Given the description of an element on the screen output the (x, y) to click on. 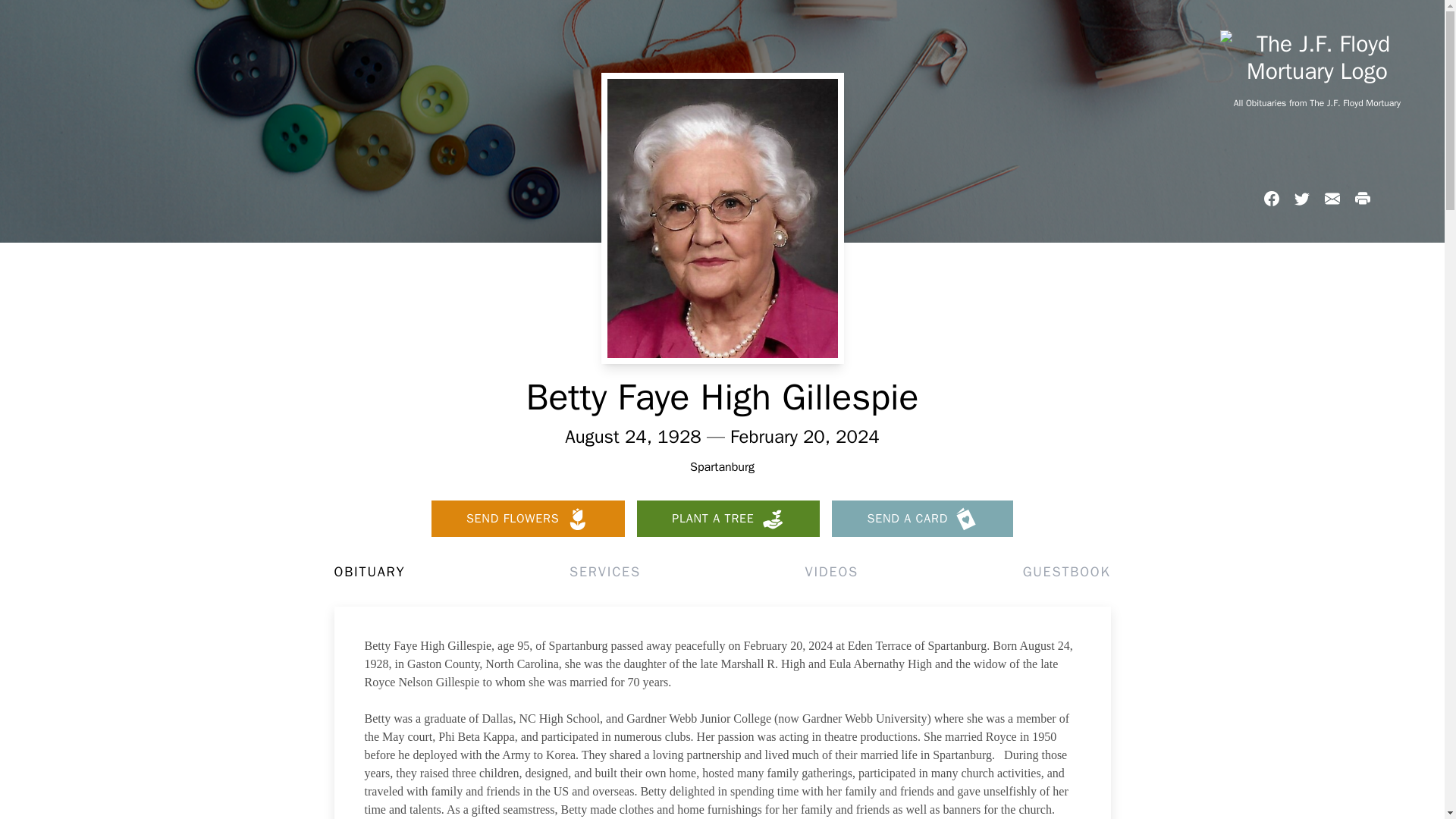
All Obituaries from The J.F. Floyd Mortuary (1316, 102)
SEND A CARD (922, 518)
SERVICES (604, 571)
PLANT A TREE (728, 518)
SEND FLOWERS (527, 518)
VIDEOS (832, 571)
OBITUARY (368, 571)
GUESTBOOK (1066, 571)
